Given the description of an element on the screen output the (x, y) to click on. 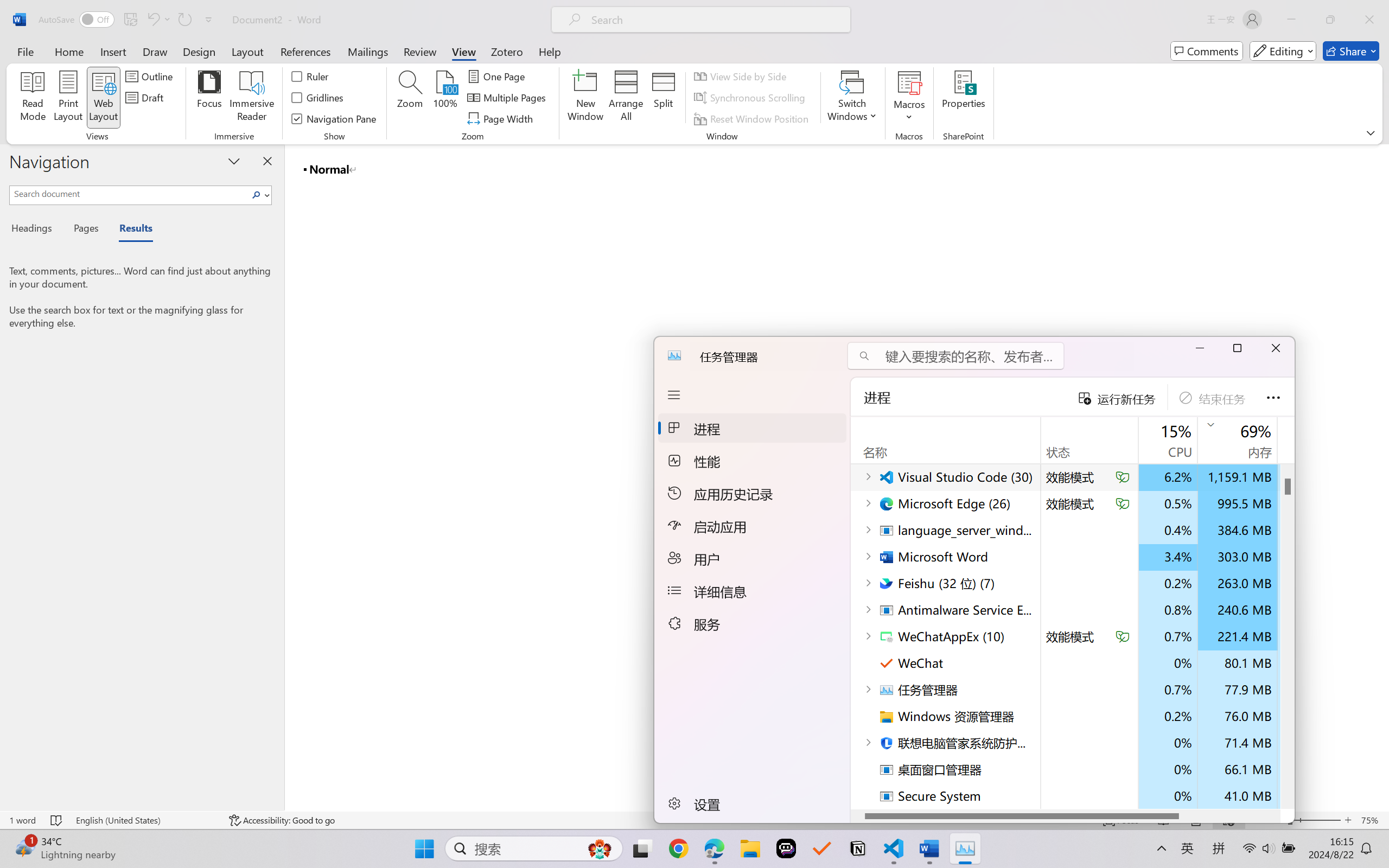
Gridlines (317, 97)
View Macros (909, 81)
Zoom... (409, 97)
Search (256, 194)
Repeat Doc Close (184, 19)
Undo <ApplyStyleToDoc>b__0 (158, 19)
Reset Window Position (752, 118)
100% (445, 97)
Properties (963, 97)
